Given the description of an element on the screen output the (x, y) to click on. 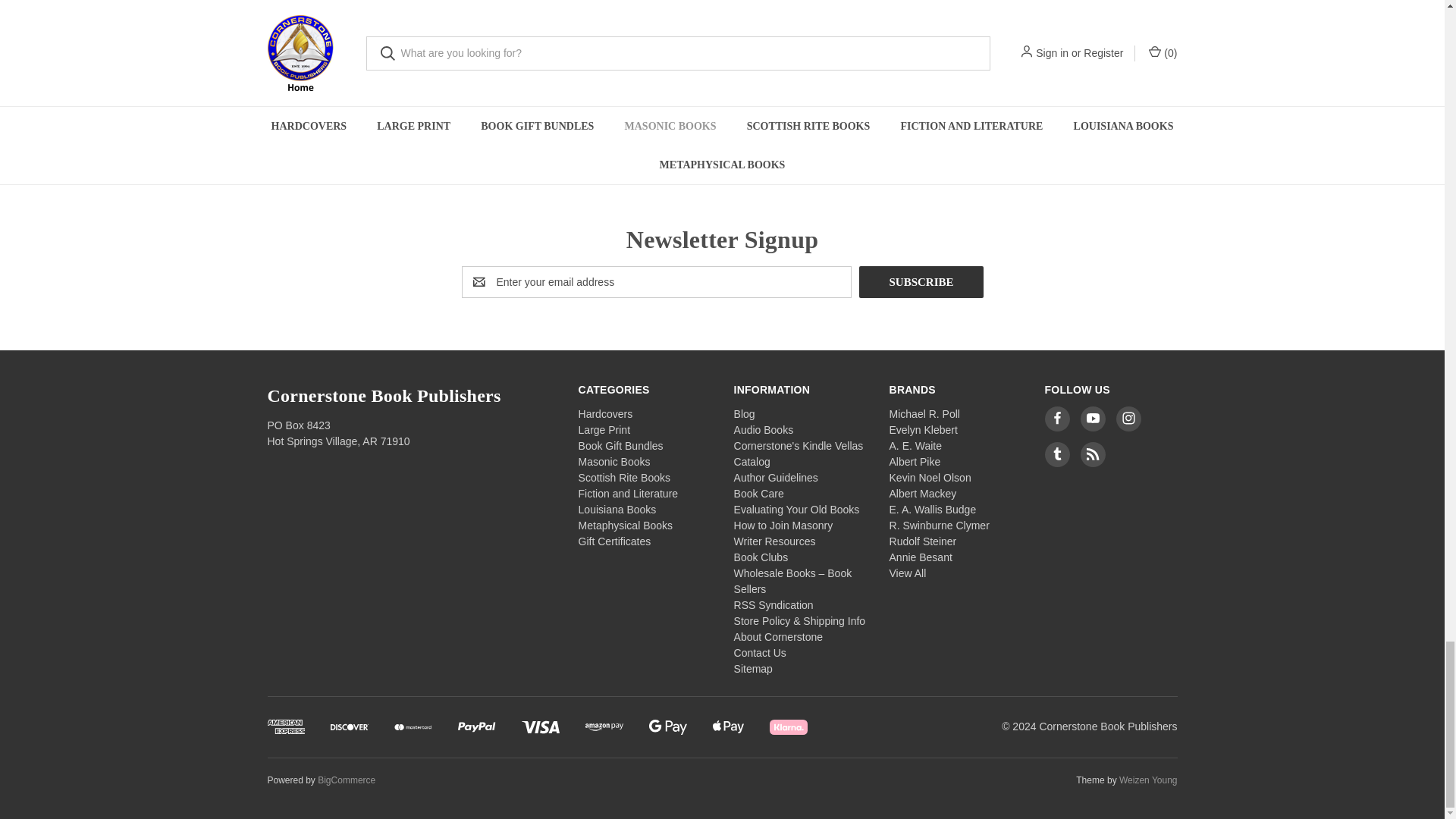
Subscribe (920, 282)
